Given the description of an element on the screen output the (x, y) to click on. 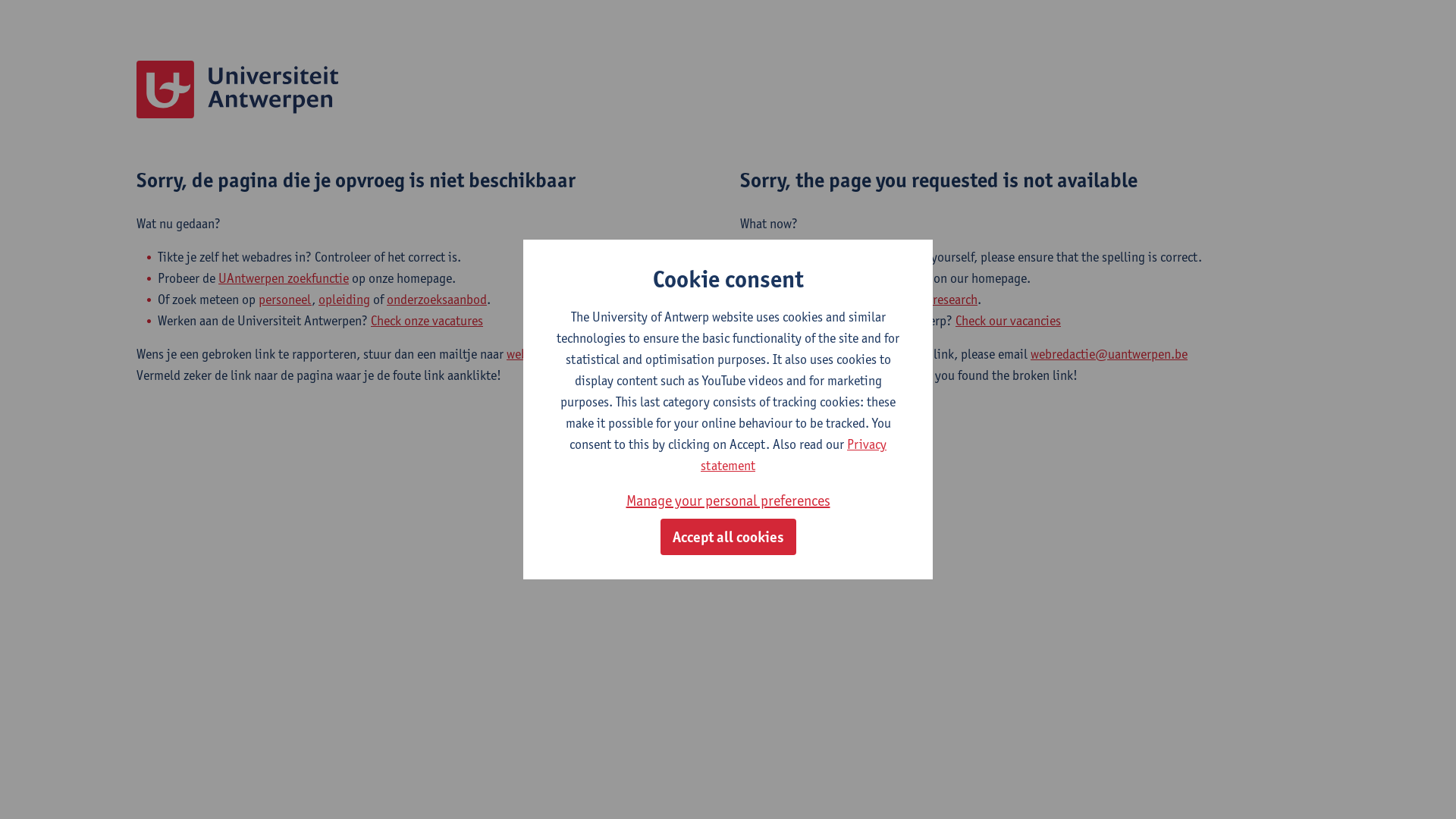
Check onze vacatures Element type: text (426, 320)
webredactie@uantwerpen.be Element type: text (1108, 353)
personeel Element type: text (284, 299)
UAntwerp search engine Element type: text (865, 277)
opleiding Element type: text (344, 299)
Check our vacancies Element type: text (1007, 320)
research Element type: text (954, 299)
Accept all cookies Element type: text (727, 536)
UAntwerpen zoekfunctie Element type: text (283, 277)
education Element type: text (888, 299)
onderzoeksaanbod Element type: text (436, 299)
webredactie@uantwerpen.be Element type: text (584, 353)
Privacy statement Element type: text (793, 454)
staff Element type: text (843, 299)
Manage your personal preferences Element type: text (728, 500)
